Given the description of an element on the screen output the (x, y) to click on. 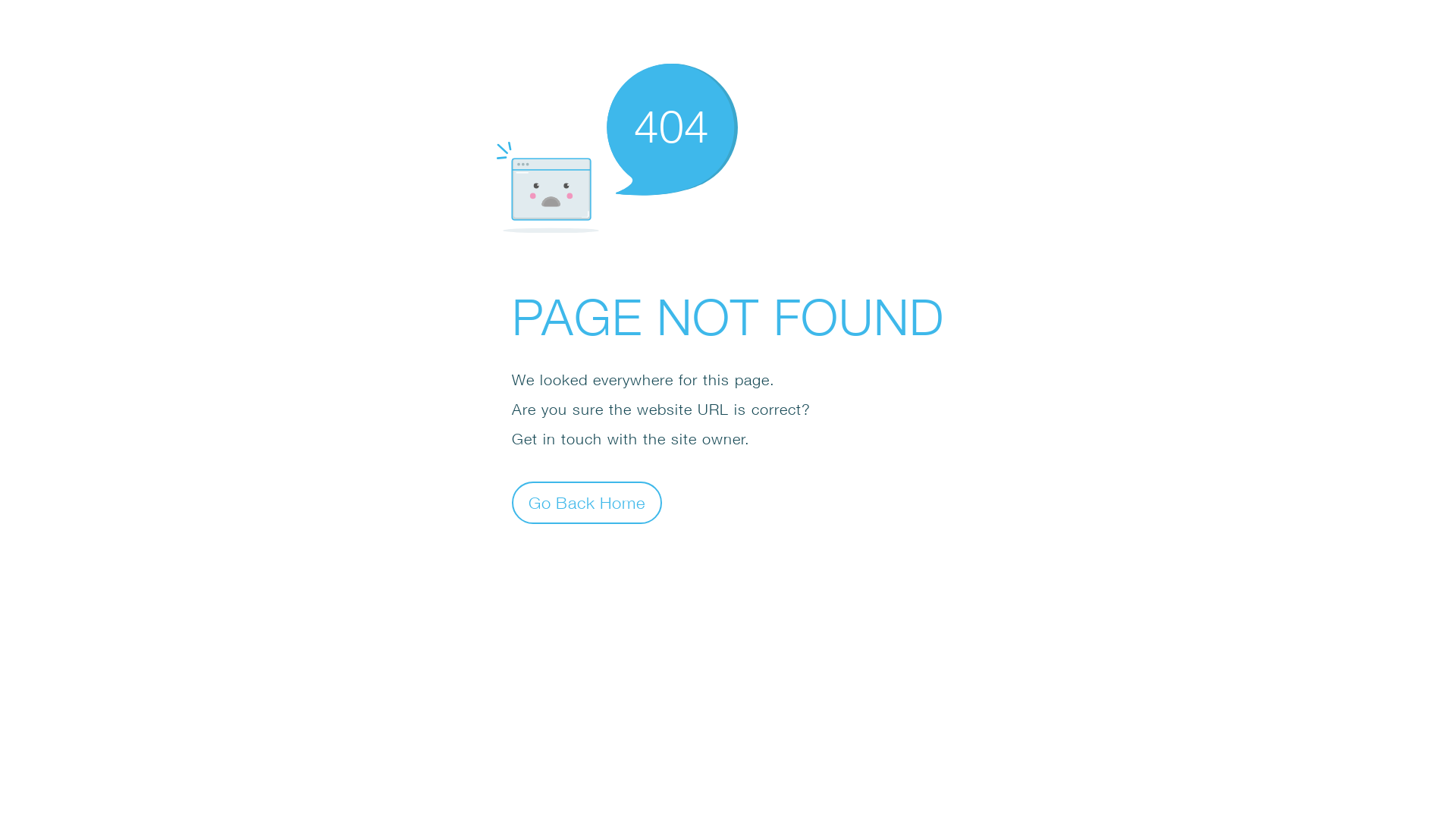
Go Back Home Element type: text (586, 502)
